Given the description of an element on the screen output the (x, y) to click on. 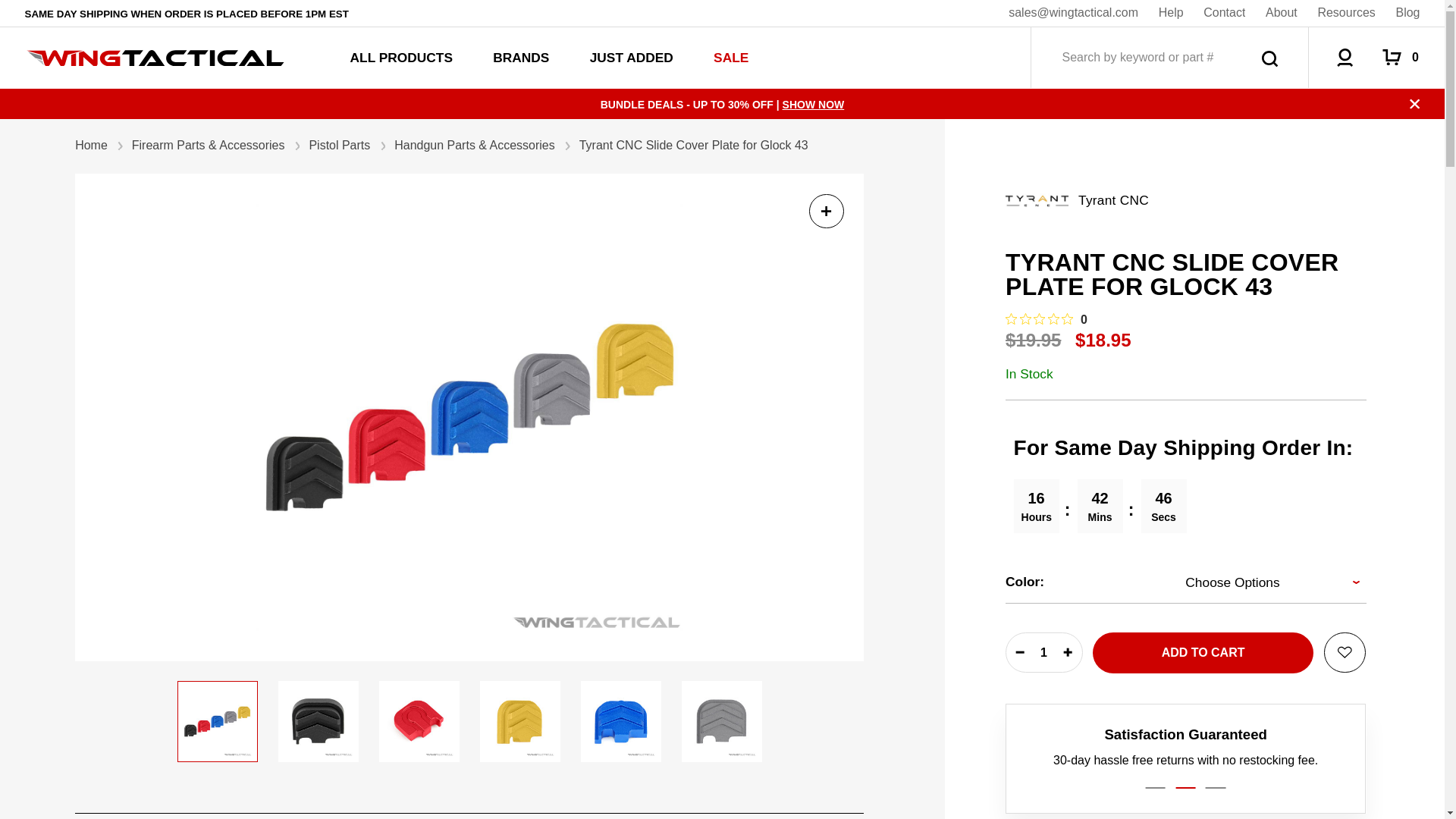
Choose Options (1265, 582)
Tyrant CNC Slide Cover Plate for Glock 43 (418, 721)
Resources (1345, 12)
Tyrant CNC Slide Cover Plate for Glock 43 (721, 721)
Tyrant CNC Slide Cover Plate for Glock 43 (620, 721)
1 (1043, 652)
Tyrant CNC (1037, 200)
0 (1046, 319)
Help (1170, 12)
ALL PRODUCTS (401, 57)
Tyrant CNC Slide Cover Plate for Glock 43 (317, 721)
Tyrant CNC Slide Cover Plate for Glock 43 (519, 721)
Tyrant CNC Slide Cover Plates for Glock 43 (217, 721)
About (1281, 12)
